Given the description of an element on the screen output the (x, y) to click on. 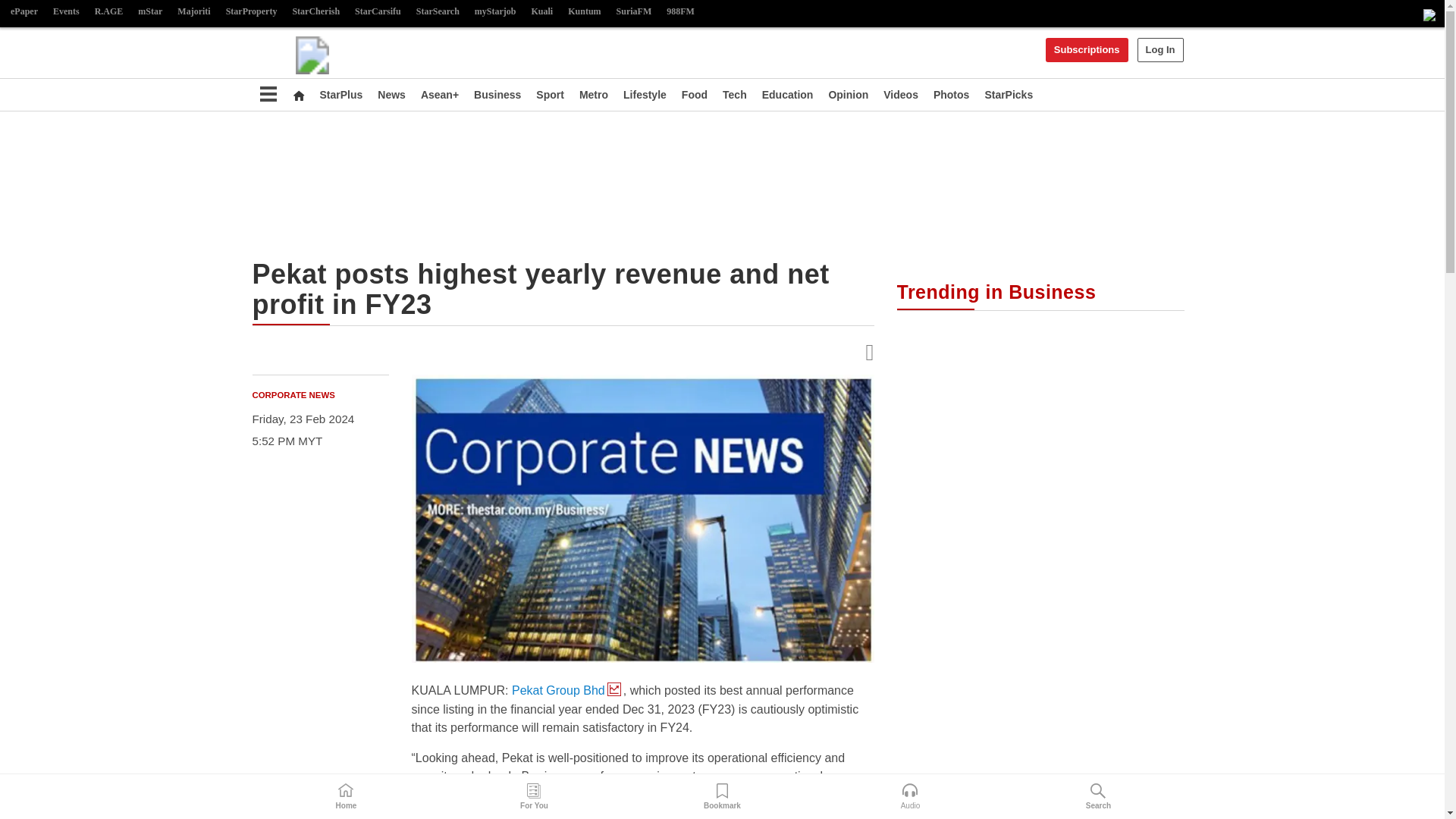
SuriaFM (633, 11)
Subscriptions (1086, 49)
StarCherish (315, 11)
Majoriti (193, 11)
988FM (680, 11)
mStar (150, 11)
StarProperty (251, 11)
StarCarsifu (378, 11)
Kuntum (584, 11)
R.AGE (109, 11)
StarSearch (438, 11)
Kuali (542, 11)
myStarjob (495, 11)
ePaper (23, 11)
Events (66, 11)
